Given the description of an element on the screen output the (x, y) to click on. 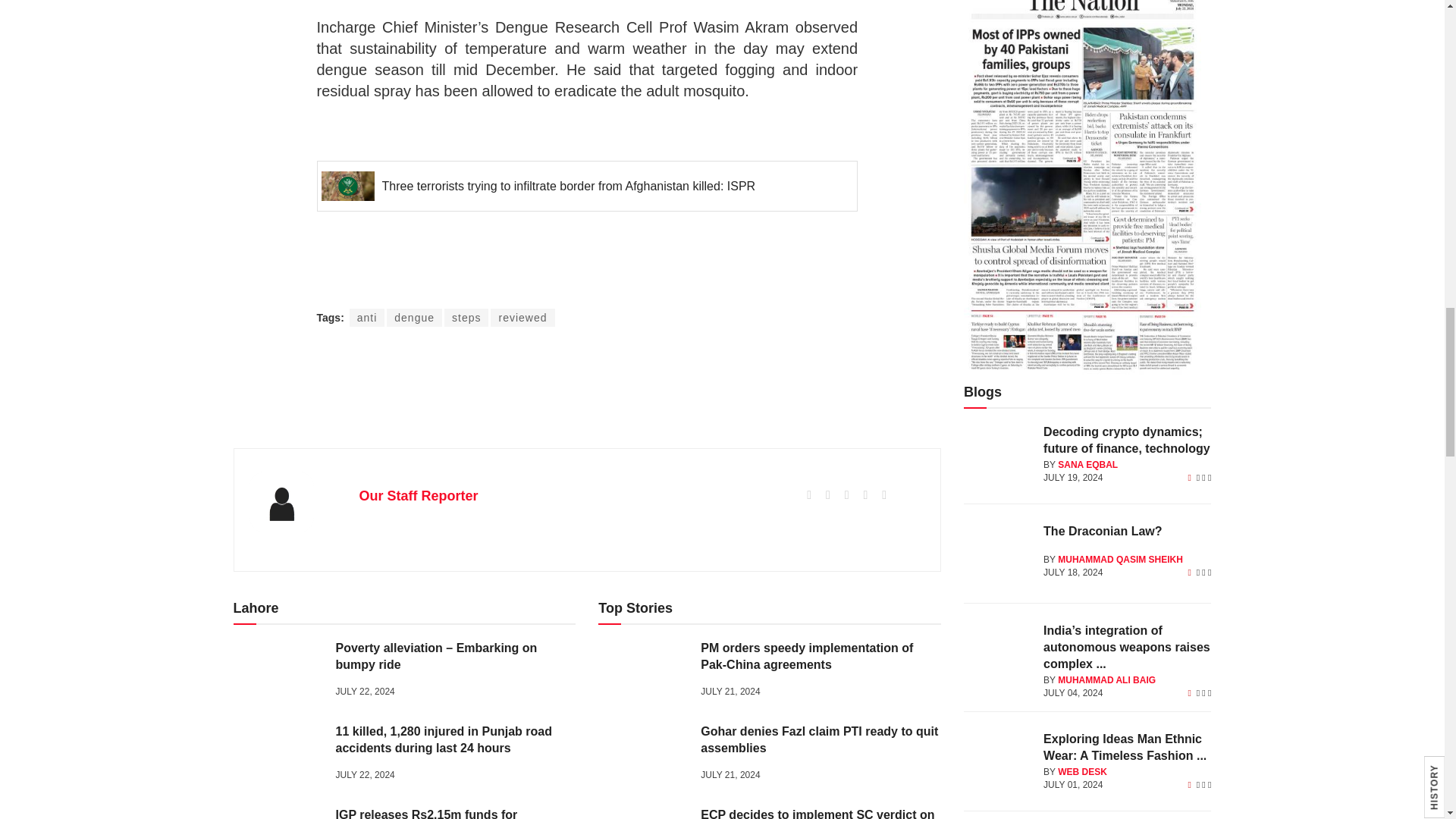
ECP decides to implement SC verdict on reserved seats (643, 812)
Gohar denies Fazl claim PTI ready to quit assemblies (643, 755)
PM orders speedy implementation of Pak-China agreements (643, 671)
